Given the description of an element on the screen output the (x, y) to click on. 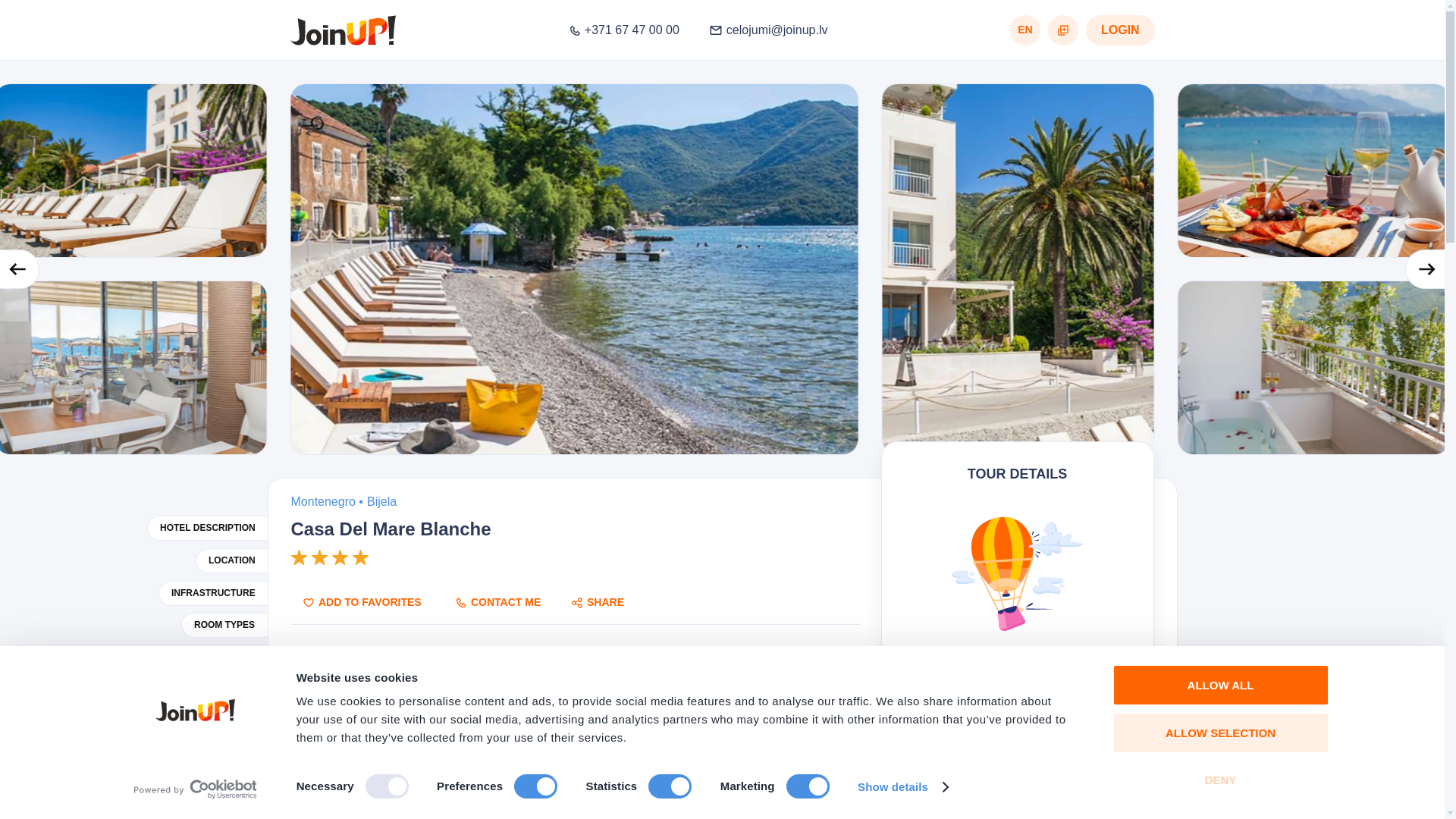
star icon (319, 557)
star icon (360, 557)
INFRASTRUCTURE (212, 593)
HOTEL DESCRIPTION (207, 527)
LOCATION (231, 560)
star icon (340, 557)
star icon (299, 557)
Show details (902, 786)
ROOM TYPES (223, 625)
